Given the description of an element on the screen output the (x, y) to click on. 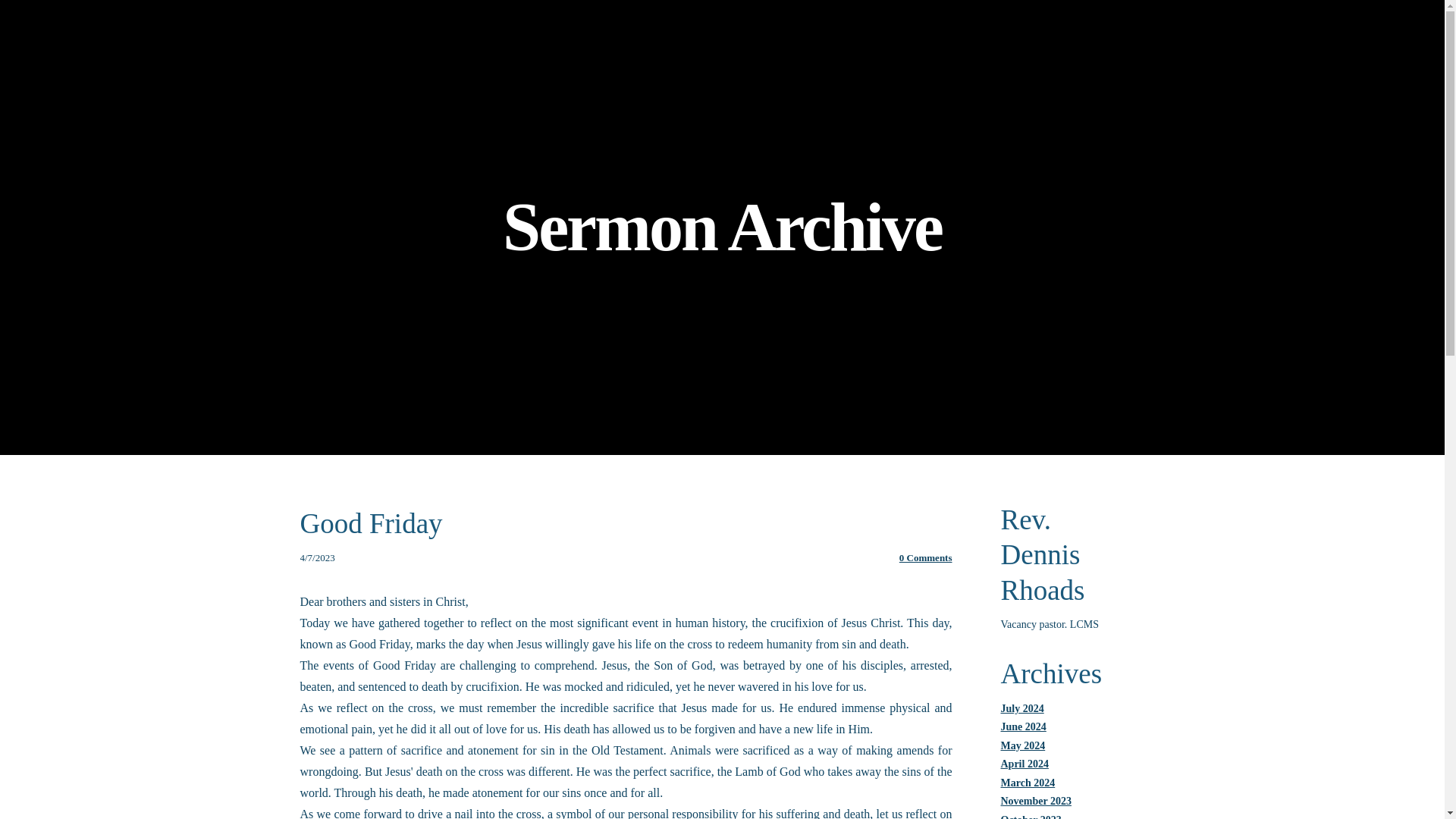
March 2024 (1028, 781)
October 2023 (1031, 816)
Good Friday (370, 522)
July 2024 (1022, 707)
0 Comments (925, 557)
June 2024 (1023, 726)
April 2024 (1024, 763)
November 2023 (1036, 800)
May 2024 (1023, 745)
